Given the description of an element on the screen output the (x, y) to click on. 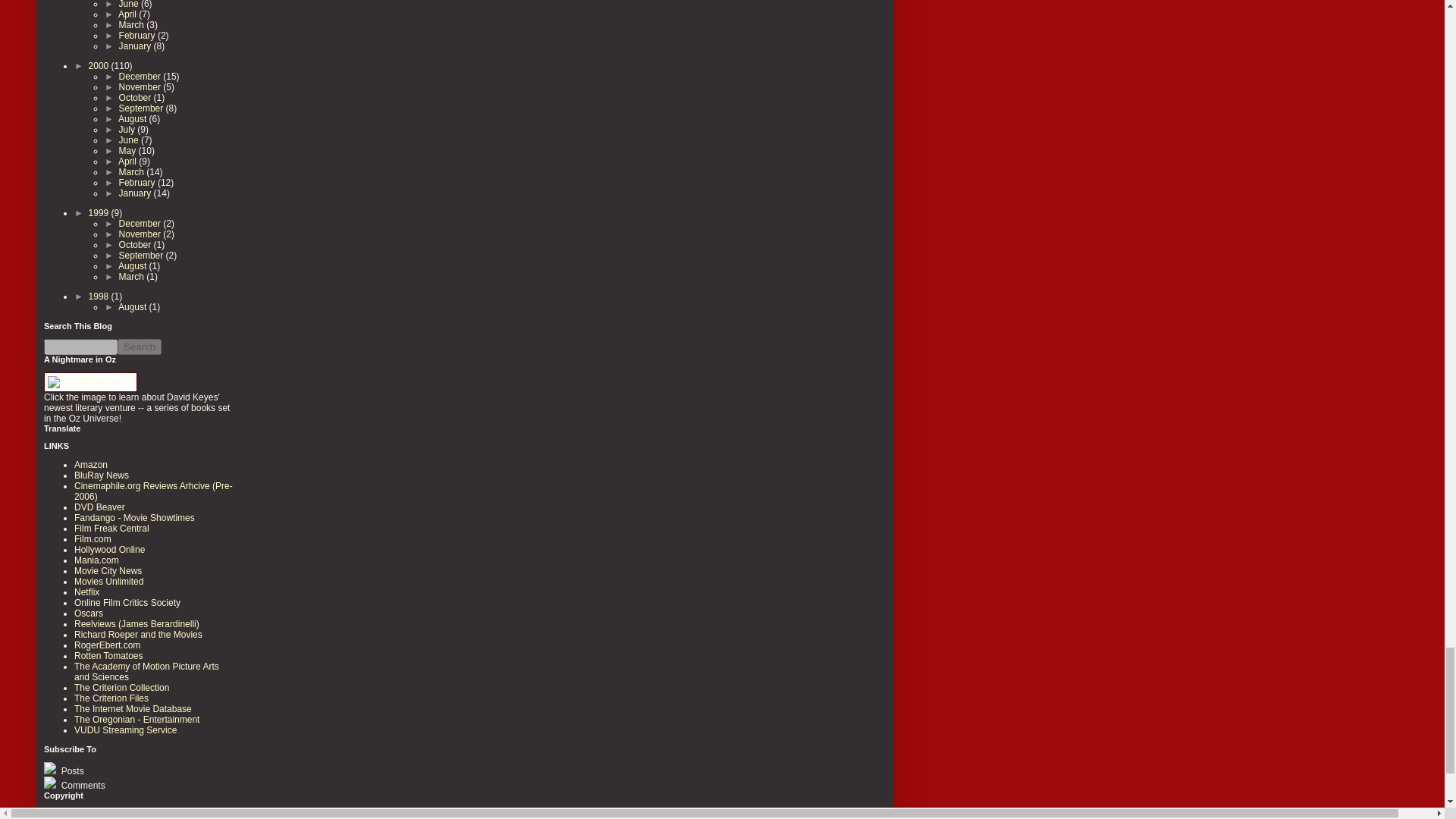
Search (139, 346)
search (139, 346)
search (80, 346)
Search (139, 346)
